Given the description of an element on the screen output the (x, y) to click on. 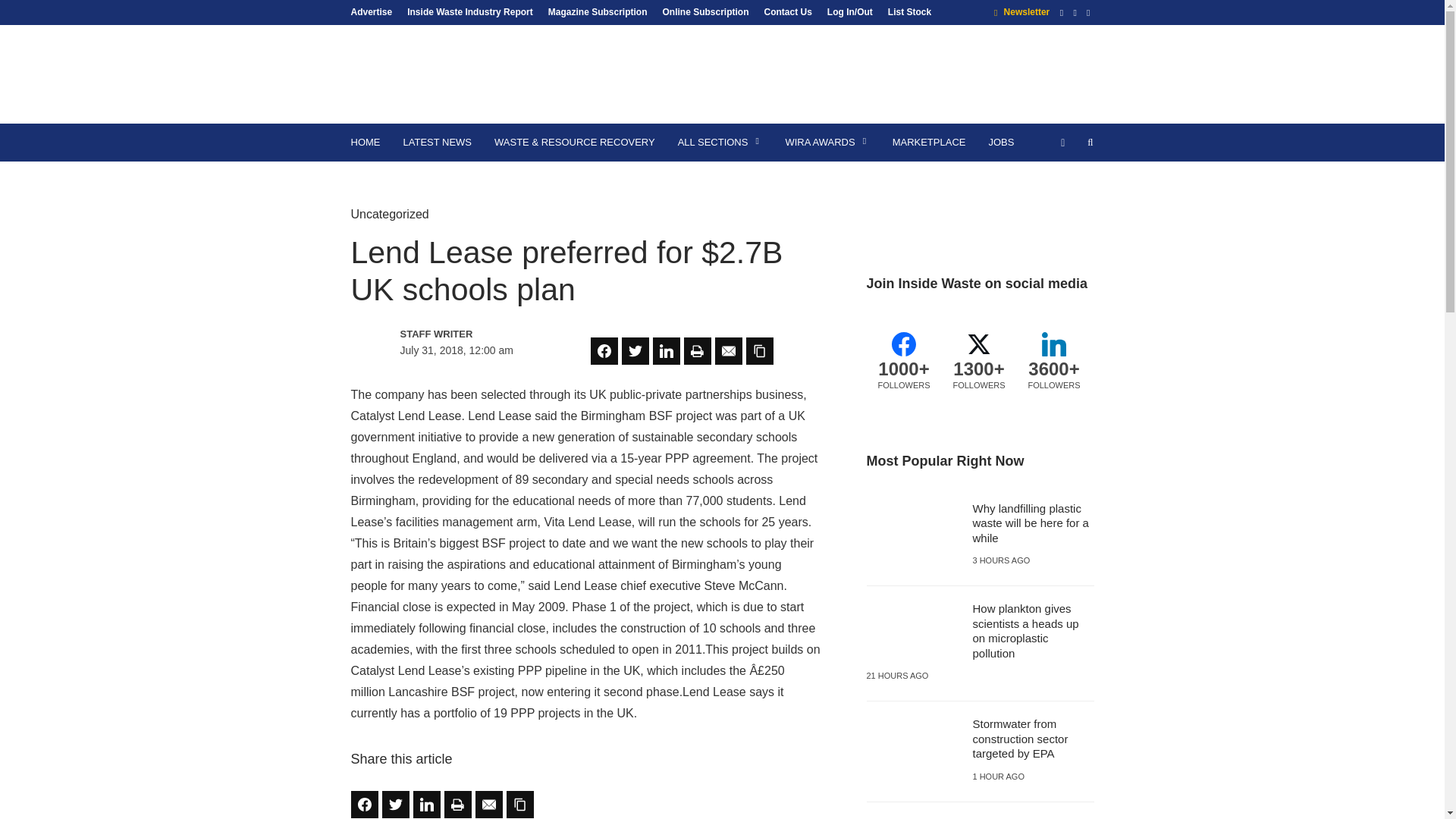
Share on LinkedIn (665, 350)
Advertise (374, 11)
Newsletter (1021, 11)
View all posts by Staff Writer (465, 333)
Share on Email (488, 804)
Magazine Subscription (597, 11)
Share on Print (697, 350)
LATEST NEWS (437, 142)
Online Subscription (704, 11)
Share on Twitter (635, 350)
